Given the description of an element on the screen output the (x, y) to click on. 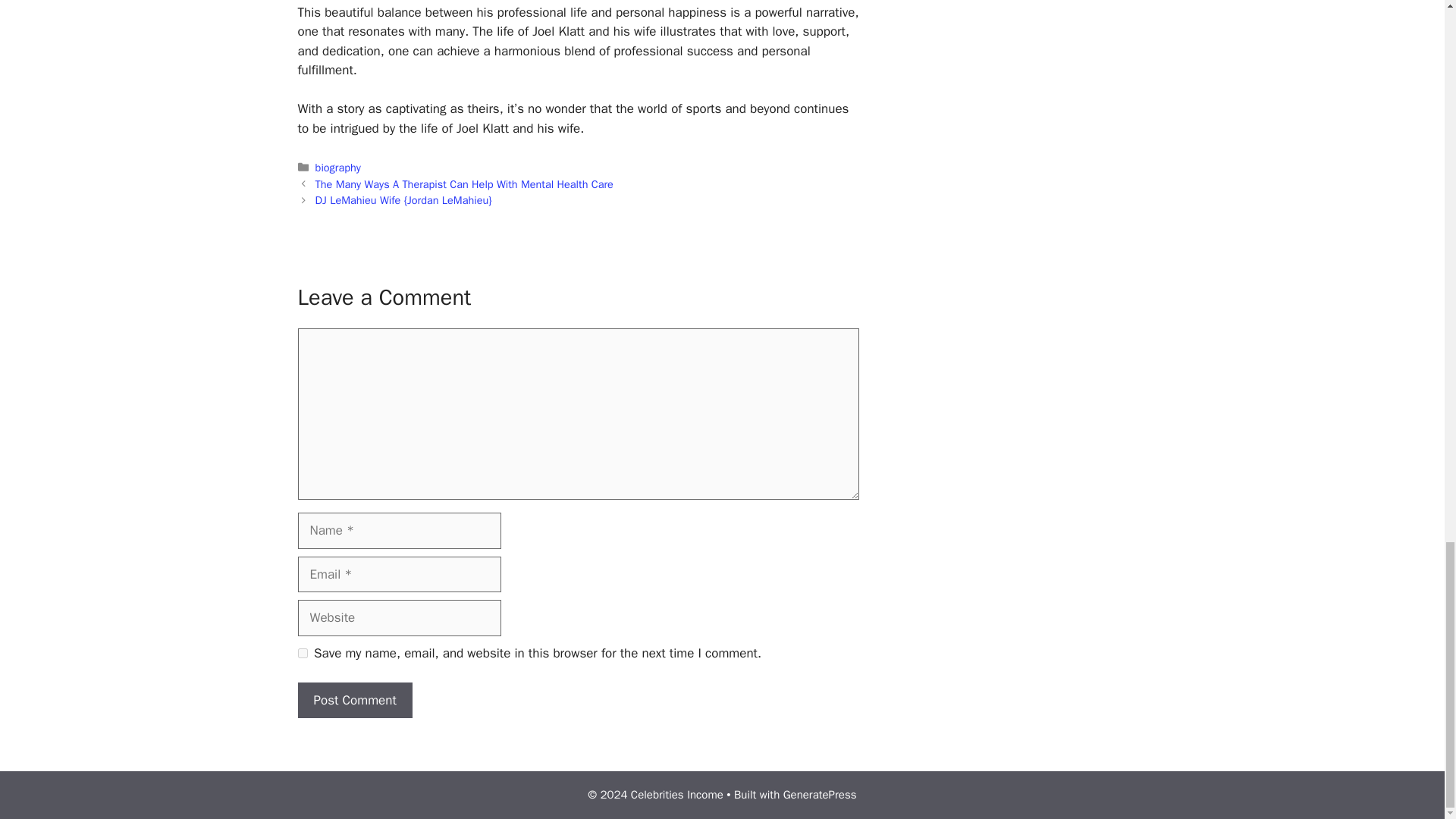
Post Comment (354, 700)
GeneratePress (820, 794)
Post Comment (354, 700)
The Many Ways A Therapist Can Help With Mental Health Care (463, 183)
biography (338, 167)
yes (302, 653)
